Given the description of an element on the screen output the (x, y) to click on. 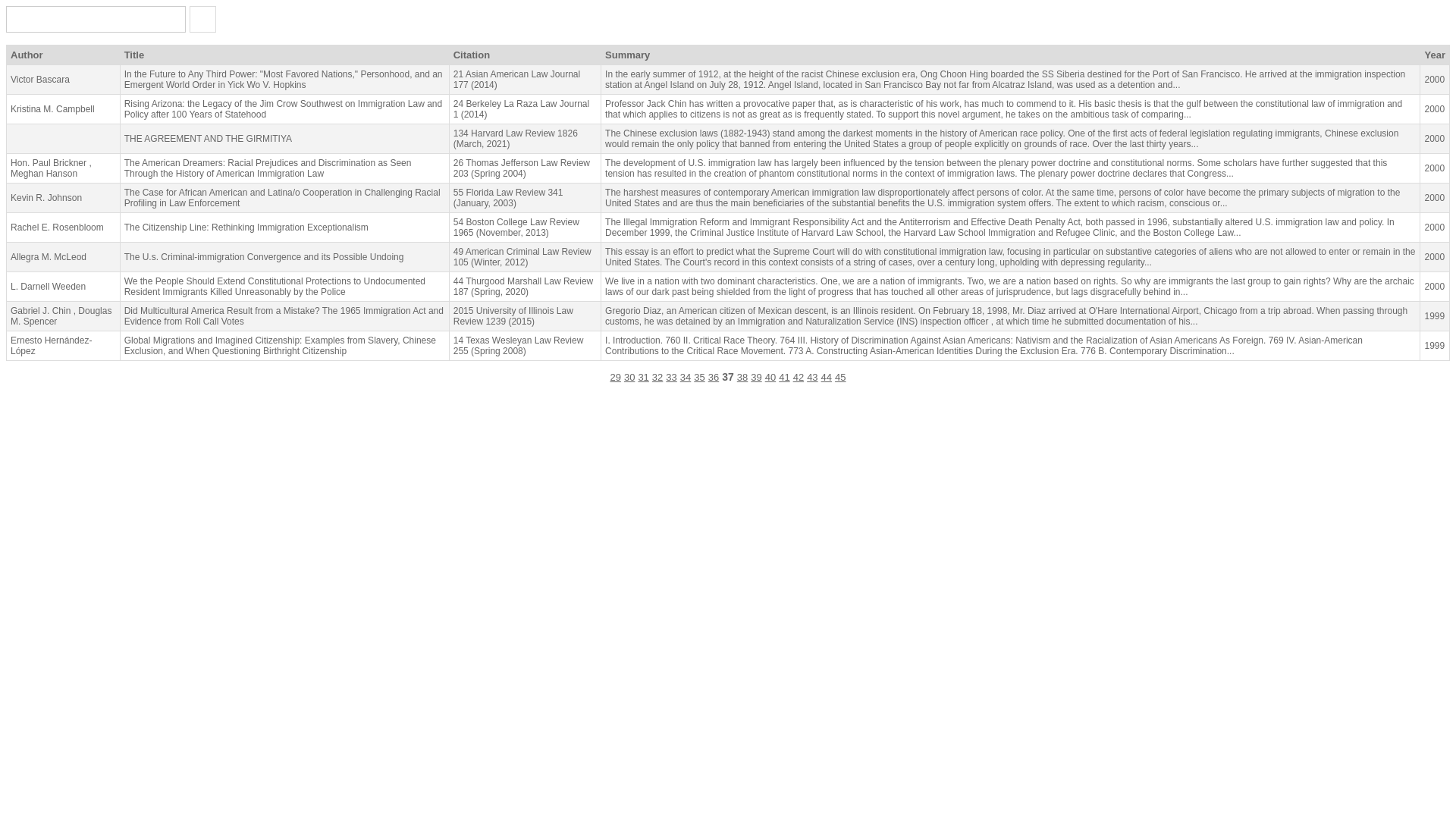
32 (657, 377)
40 (770, 377)
31 (642, 377)
43 (811, 377)
Click to sort by Author (62, 55)
42 (798, 377)
33 (671, 377)
38 (742, 377)
39 (756, 377)
44 (826, 377)
36 (713, 377)
30 (629, 377)
29 (615, 377)
35 (699, 377)
41 (783, 377)
